Given the description of an element on the screen output the (x, y) to click on. 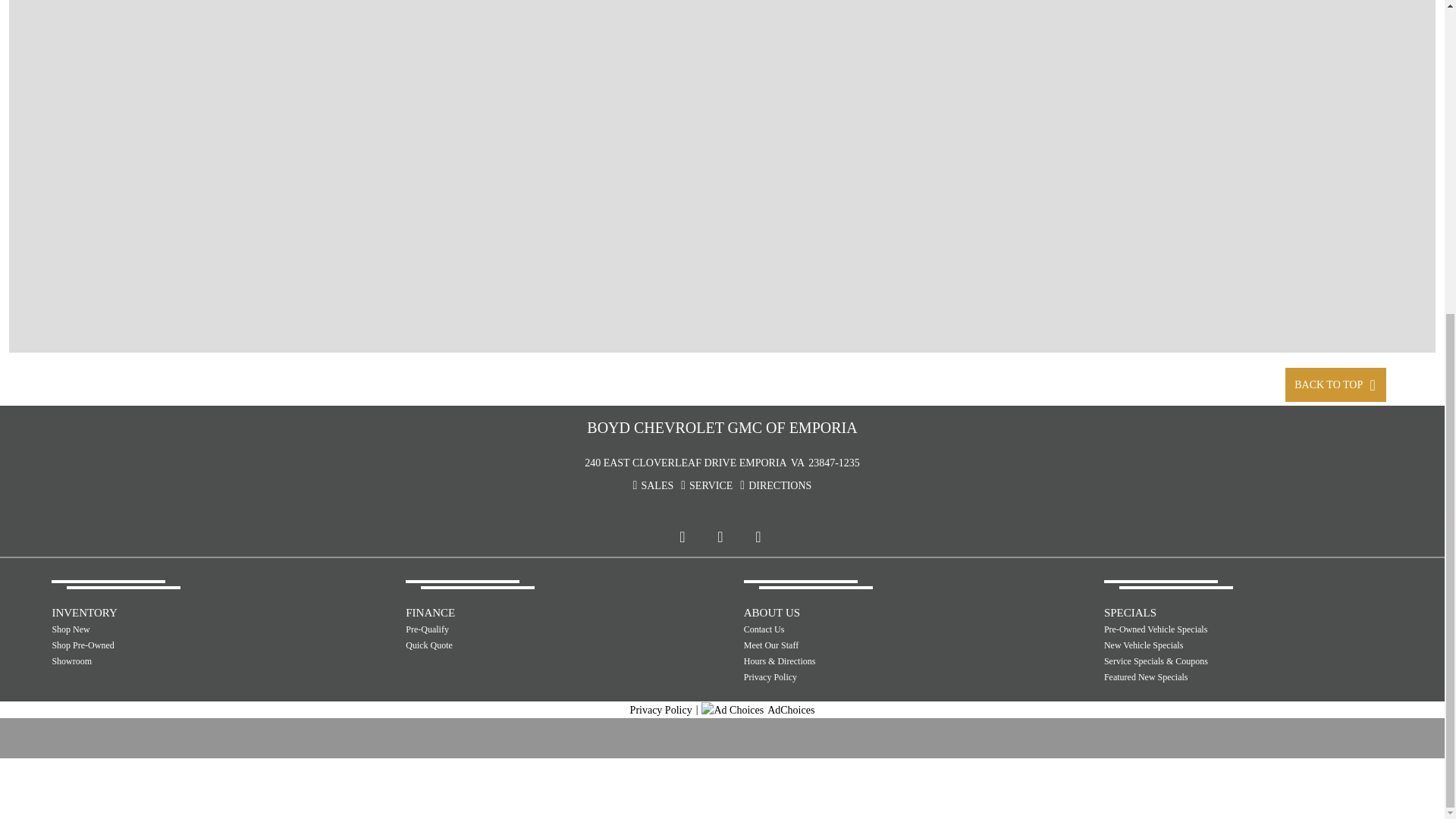
Get a Quick Quote (519, 644)
Back to Top (1335, 384)
Shop Pre-Owned (164, 644)
Model Showroom (164, 661)
Featured New Specials (1217, 676)
Meet Our Staff (857, 644)
Pre-Owned Vehicle Specials (1217, 629)
New Vehicle Specials (1217, 644)
Contact Us (857, 629)
Shop New (164, 629)
